Given the description of an element on the screen output the (x, y) to click on. 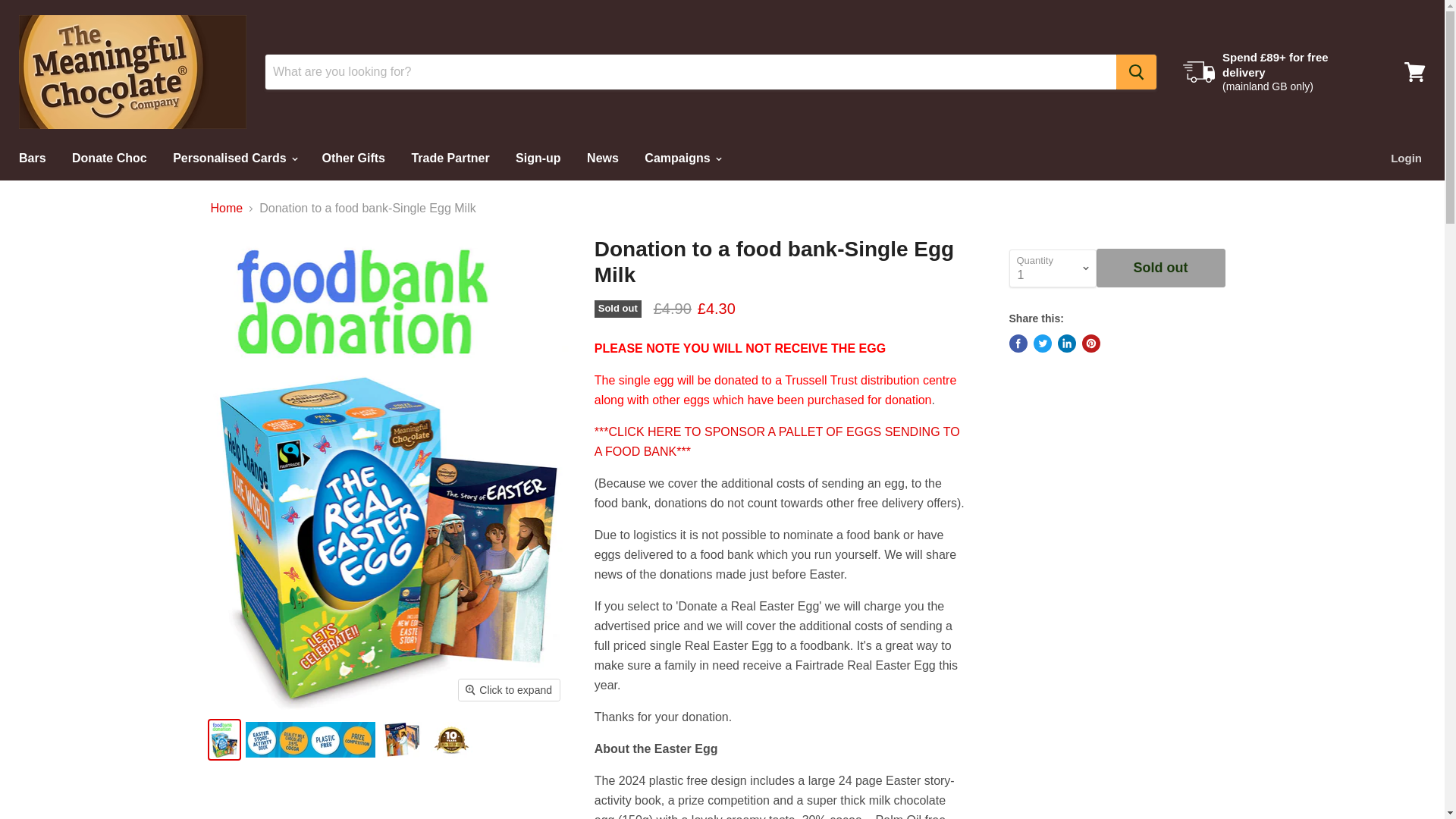
Bars (32, 158)
Trade Partner (449, 158)
Other Gifts (353, 158)
Campaigns (681, 158)
Sign-up (537, 158)
View cart (1414, 71)
Donate Choc (109, 158)
Personalised Cards (234, 158)
News (602, 158)
